Given the description of an element on the screen output the (x, y) to click on. 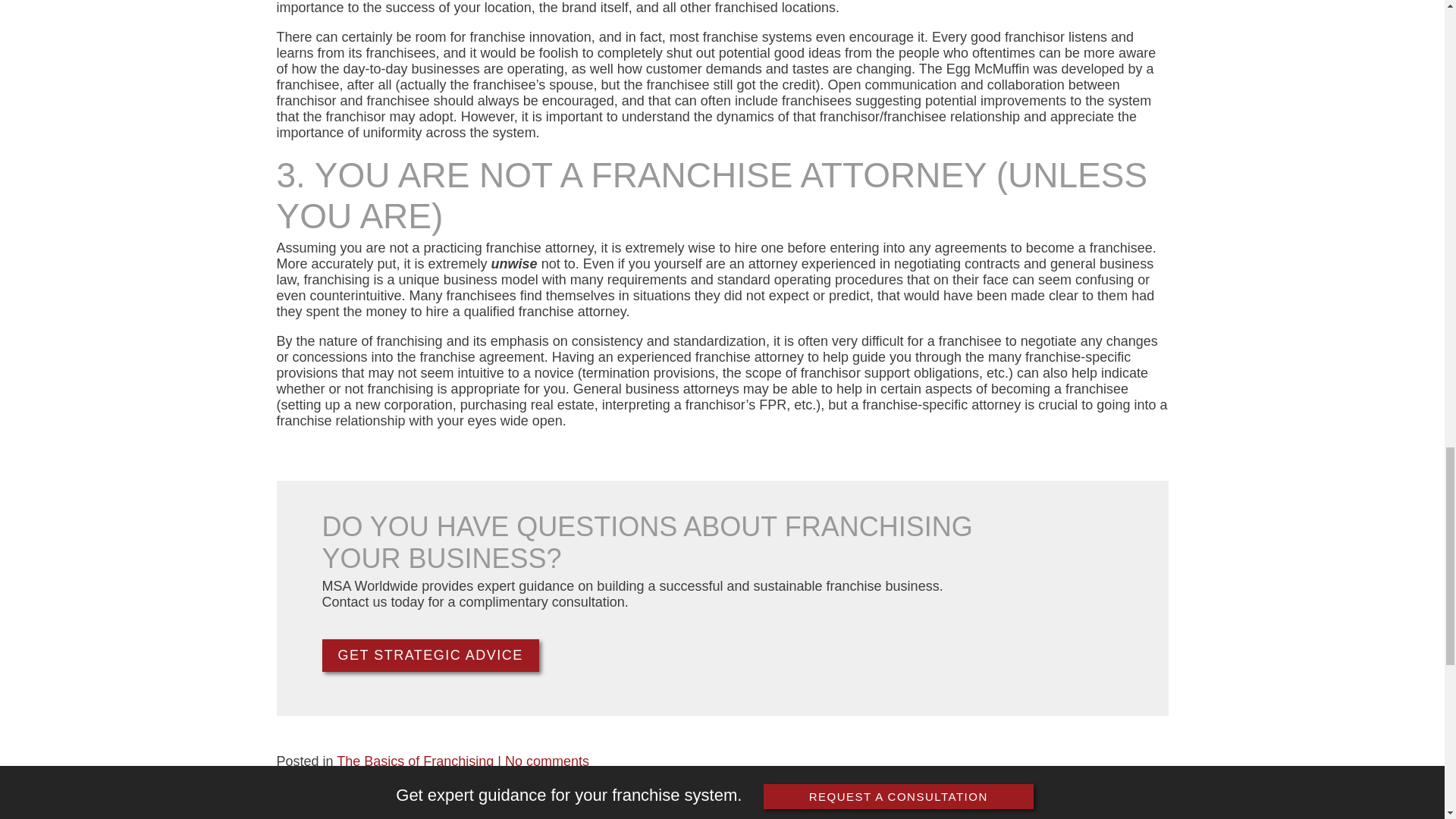
The Basics of Franchising (414, 761)
GET STRATEGIC ADVICE (429, 655)
No comments (547, 761)
